Given the description of an element on the screen output the (x, y) to click on. 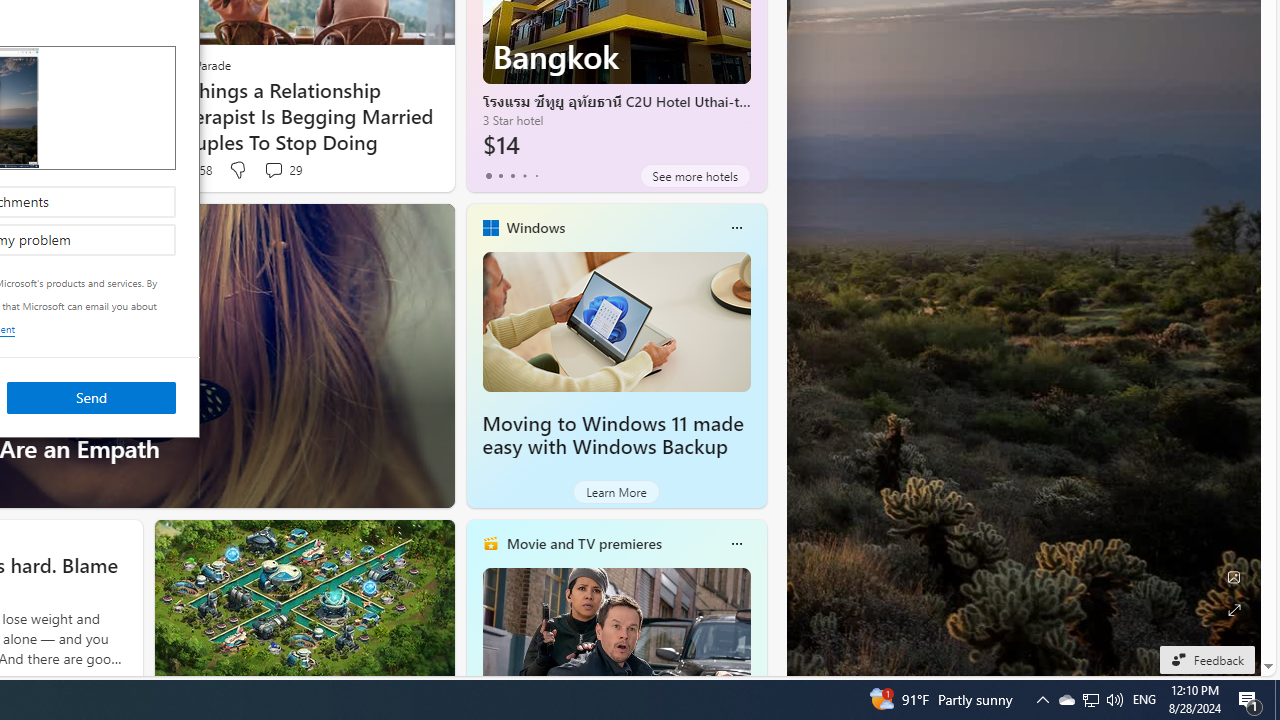
User Promoted Notification Area (1090, 699)
tab-1 (500, 175)
Q2790: 100% (1114, 699)
Learn More (616, 491)
Action Center, 1 new notification (1250, 699)
Show desktop (1277, 699)
View comments 29 Comment (281, 170)
tab-2 (511, 175)
Send (91, 396)
Class: icon-img (736, 543)
Tray Input Indicator - English (United States) (1144, 699)
Notification Chevron (1042, 699)
